Given the description of an element on the screen output the (x, y) to click on. 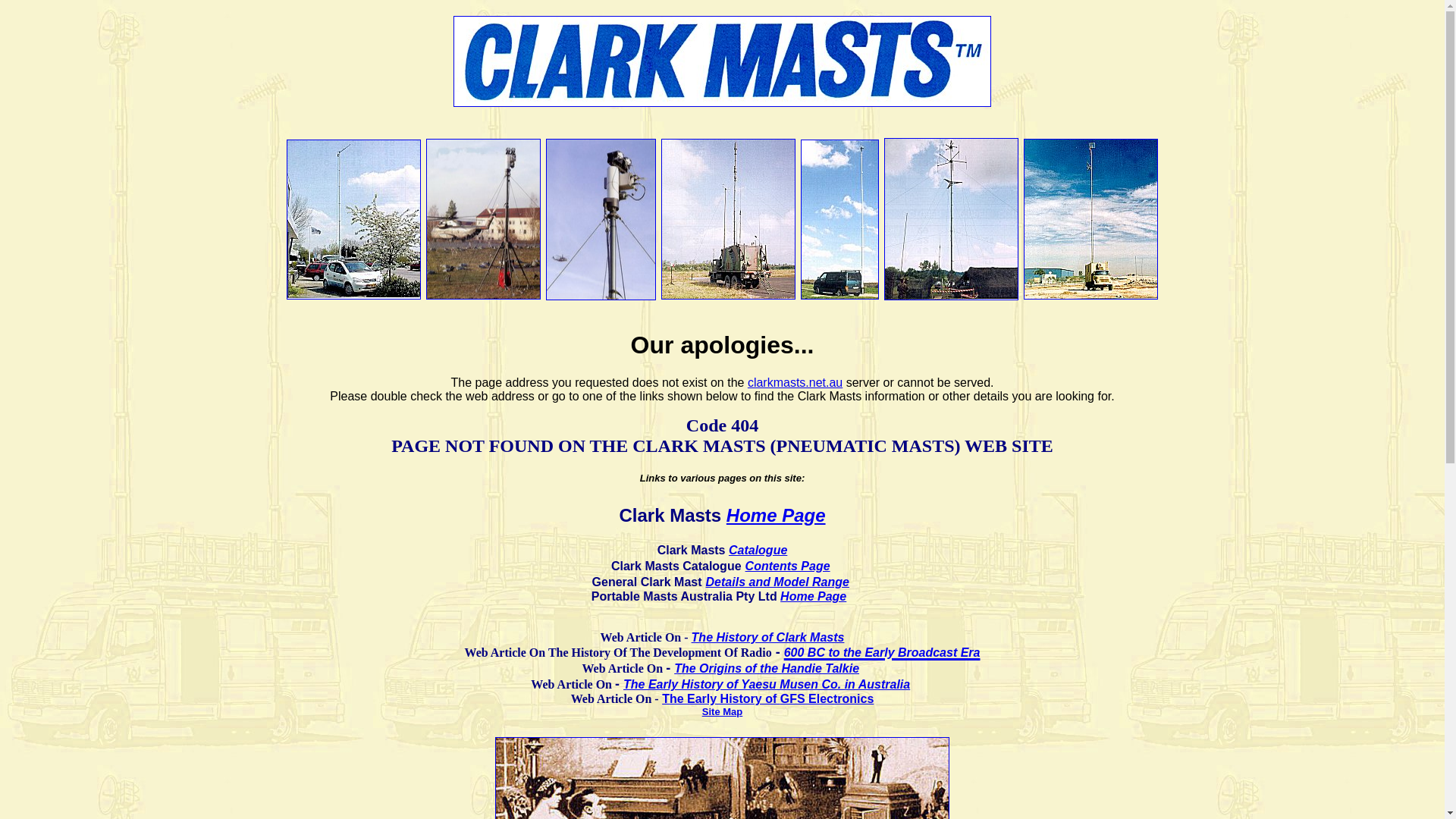
clarkmasts.net.au Element type: text (794, 382)
The Early History of Yaesu Musen Co. in Australia Element type: text (766, 683)
Catalogue Element type: text (757, 549)
The Origins of the Handie Talkie Element type: text (766, 668)
Details and Model Range Element type: text (777, 581)
GFS Electronics Element type: text (827, 698)
The History of Clark Masts Element type: text (767, 636)
Home Page Element type: text (775, 515)
Site Map Element type: text (722, 711)
Contents Page Element type: text (787, 565)
600 BC to the Early Broadcast Era Element type: text (882, 648)
The Early History of Element type: text (721, 698)
Home Page Element type: text (813, 595)
